Given the description of an element on the screen output the (x, y) to click on. 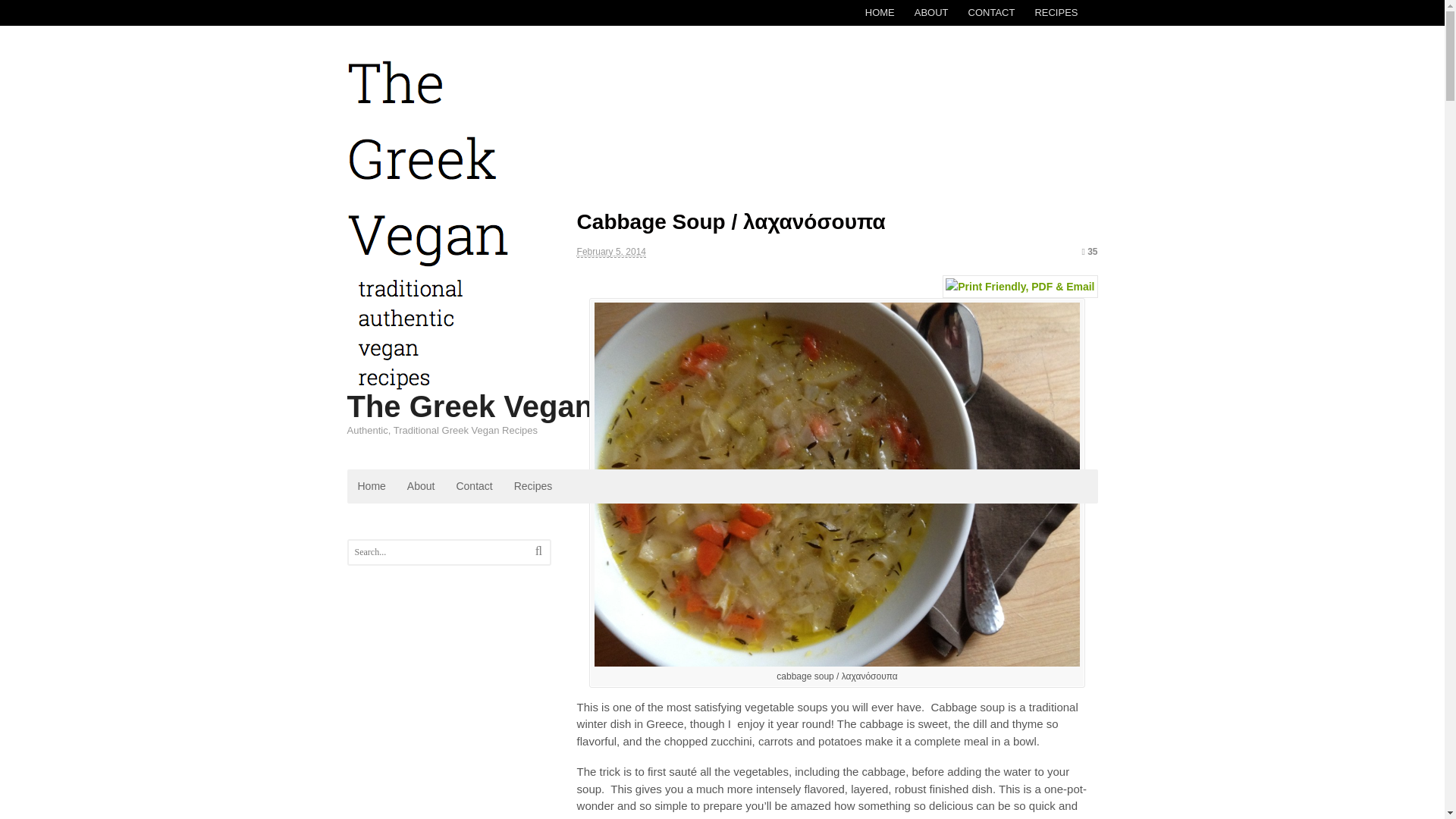
Authentic, Traditional Greek Vegan Recipes (427, 383)
Contact (473, 486)
The Greek Vegan (470, 406)
HOME (880, 12)
ABOUT (931, 12)
Search... (440, 552)
Recipes (533, 486)
35 (1089, 251)
RECIPES (1056, 12)
2014-02-05T16:11:00-0500 (611, 251)
